Given the description of an element on the screen output the (x, y) to click on. 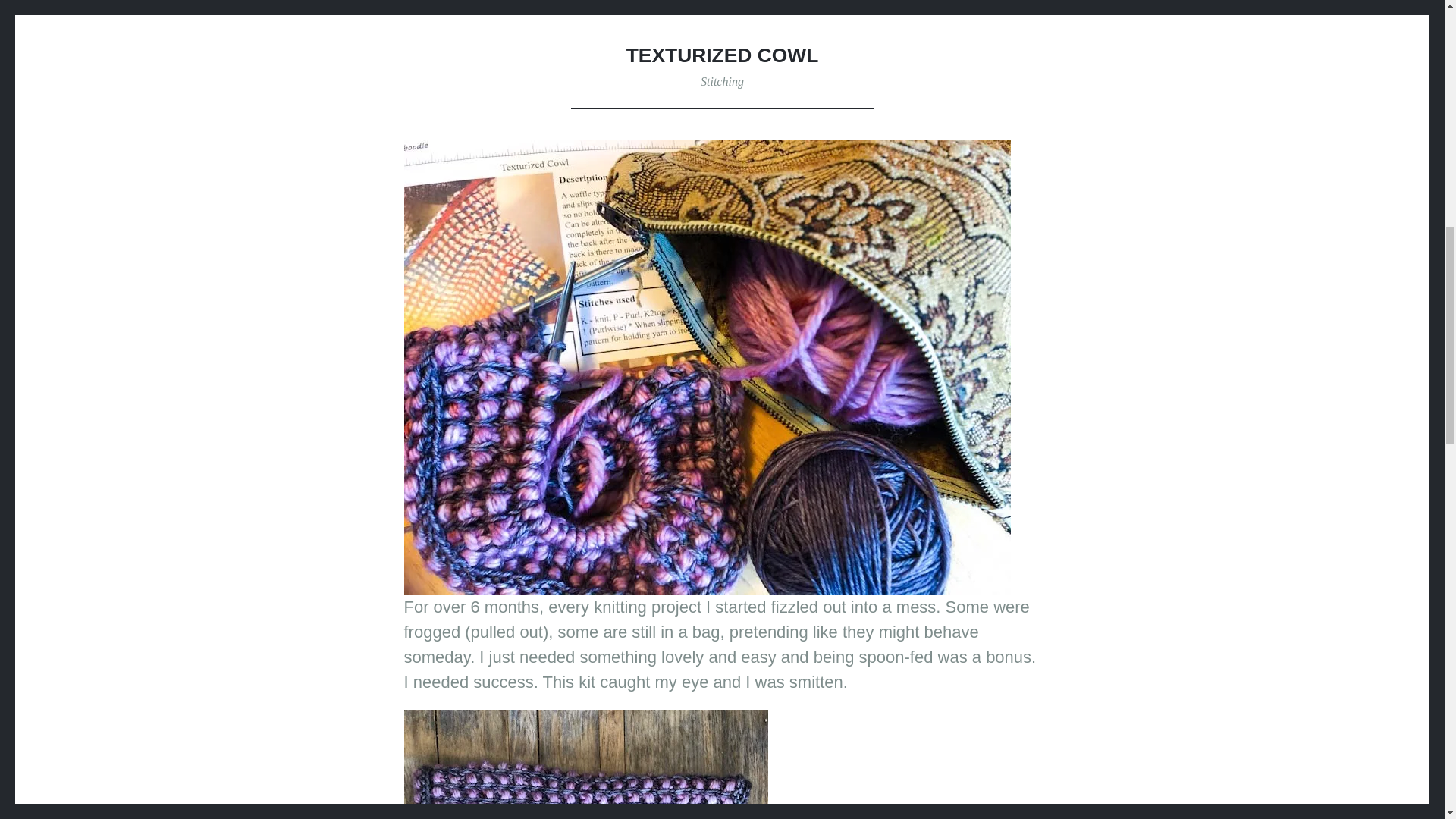
Stitching (722, 81)
